Given the description of an element on the screen output the (x, y) to click on. 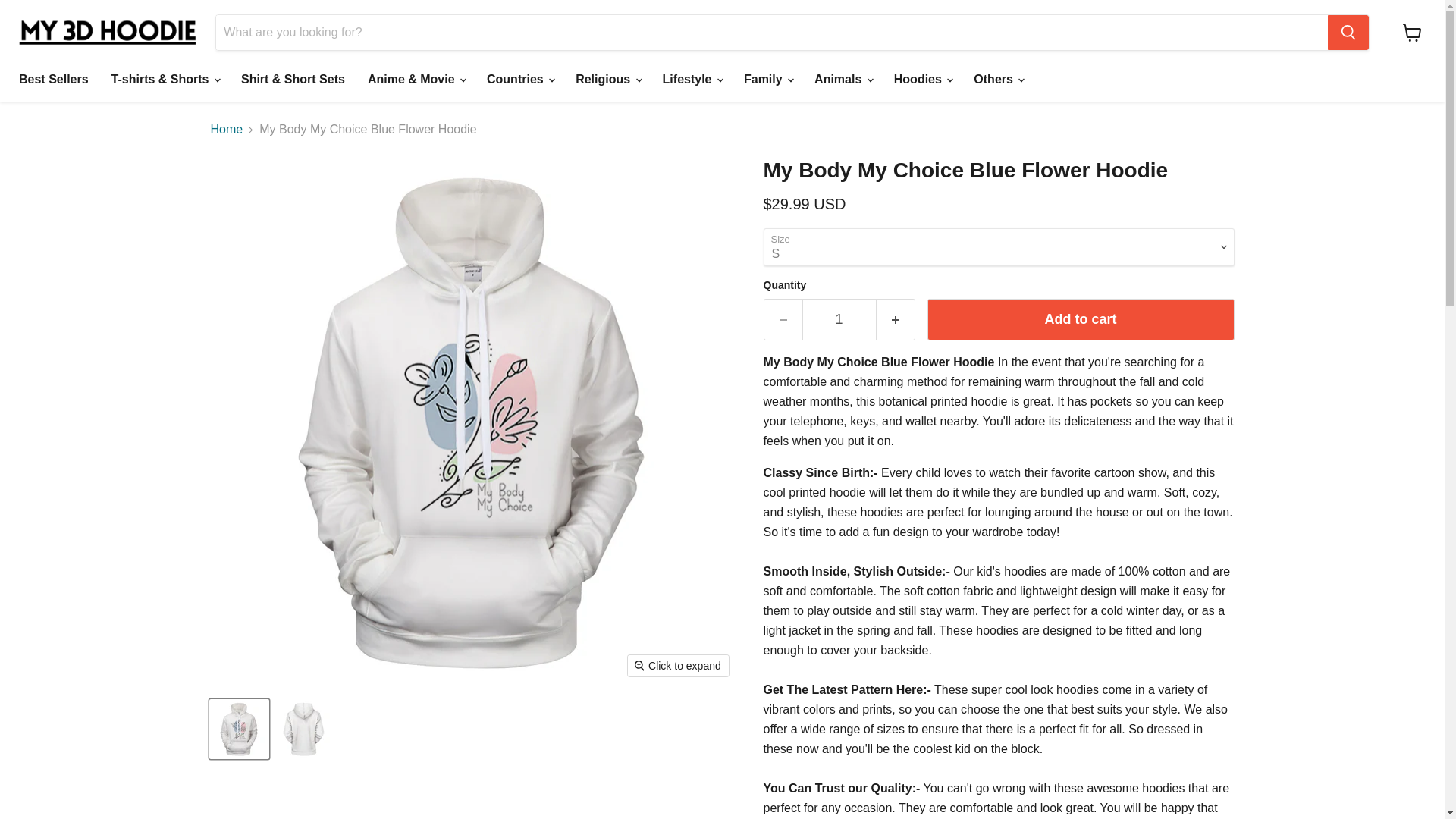
View cart (1411, 32)
1 (839, 319)
Best Sellers (53, 79)
